Given the description of an element on the screen output the (x, y) to click on. 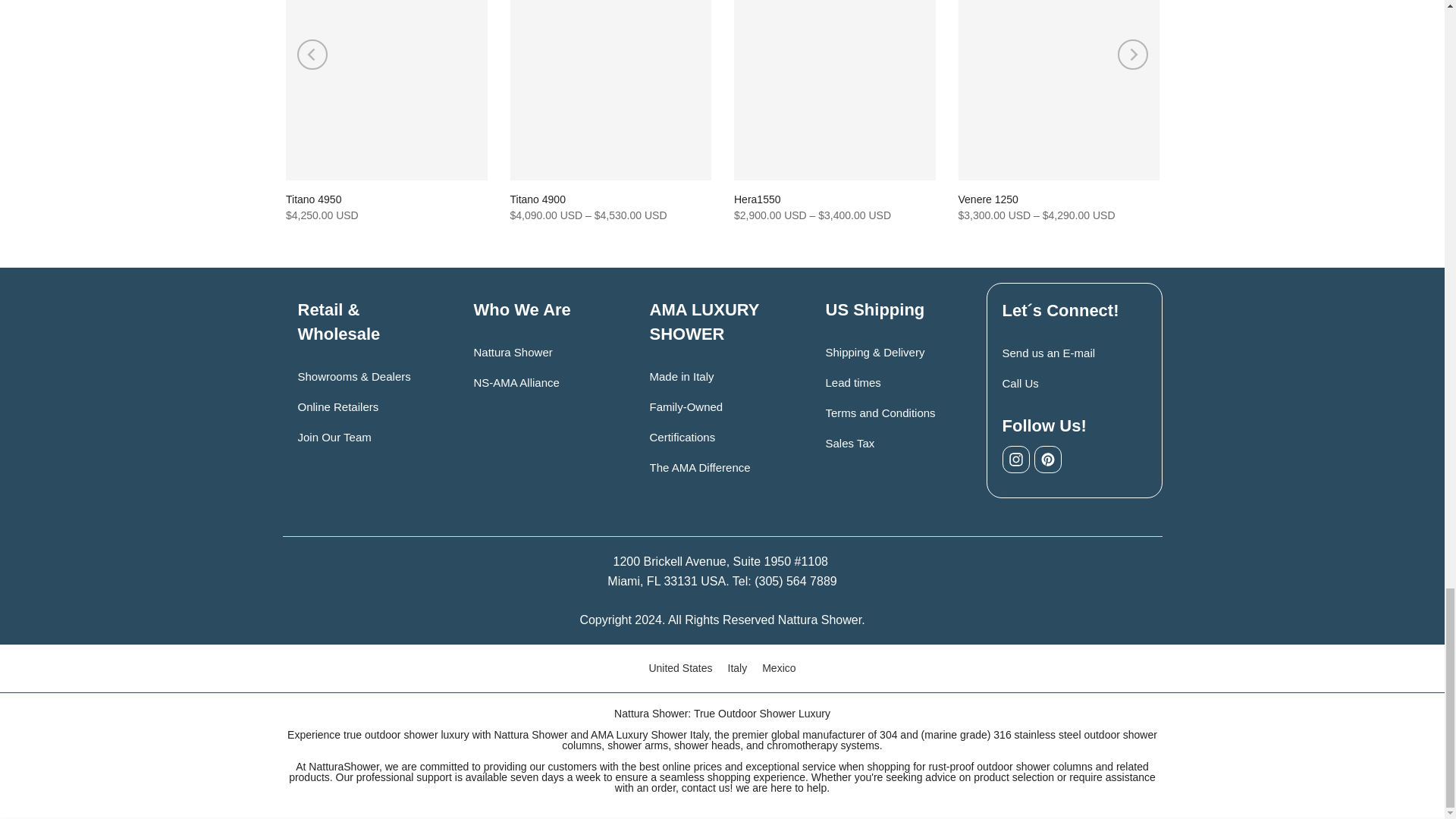
Mexico (778, 668)
Italy (737, 668)
About Nattura Shower (512, 351)
United States (679, 668)
